Given the description of an element on the screen output the (x, y) to click on. 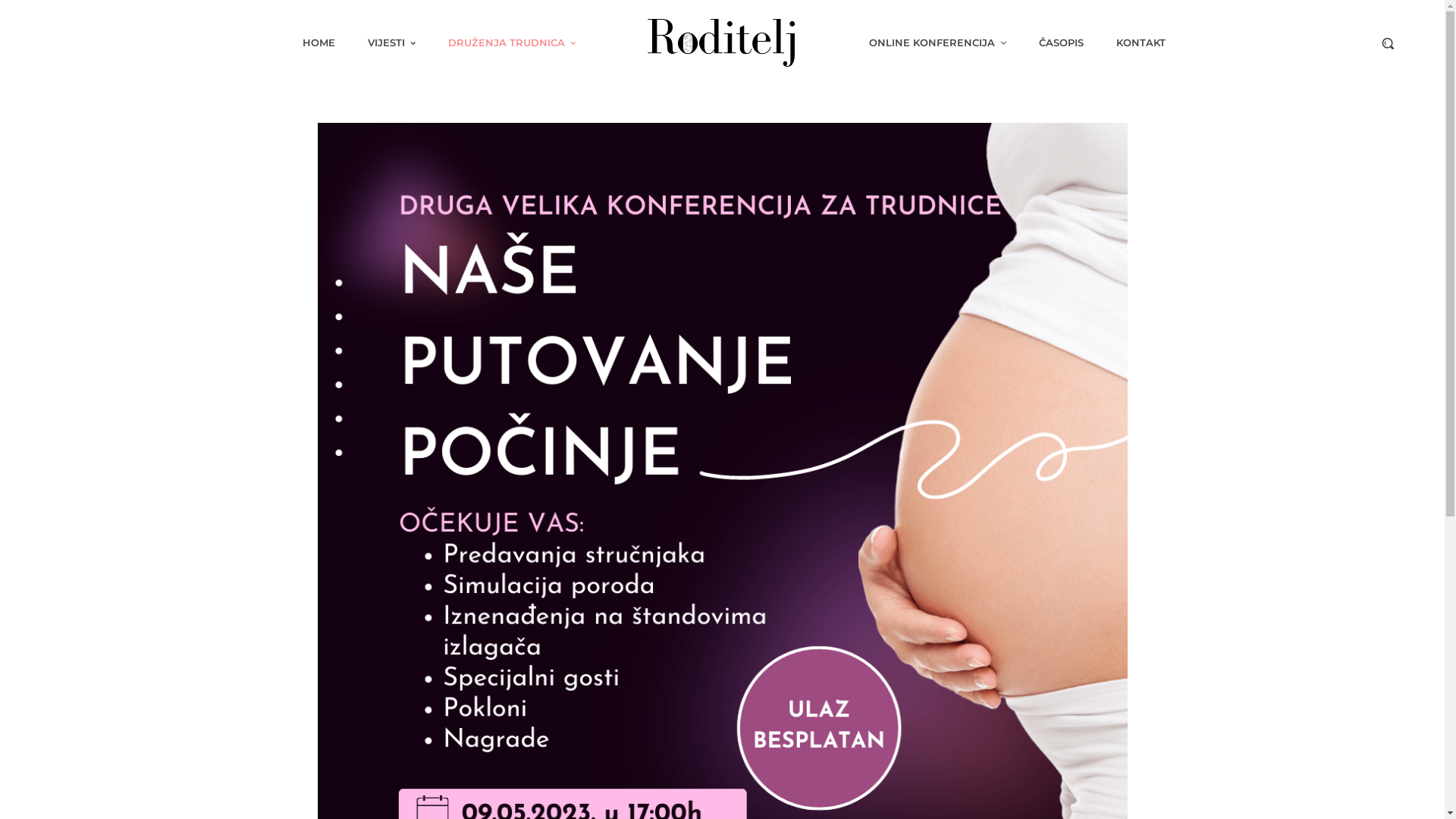
HOME Element type: text (318, 42)
KONTAKT Element type: text (1140, 42)
VIJESTI Element type: text (391, 42)
ONLINE KONFERENCIJA Element type: text (937, 42)
